Given the description of an element on the screen output the (x, y) to click on. 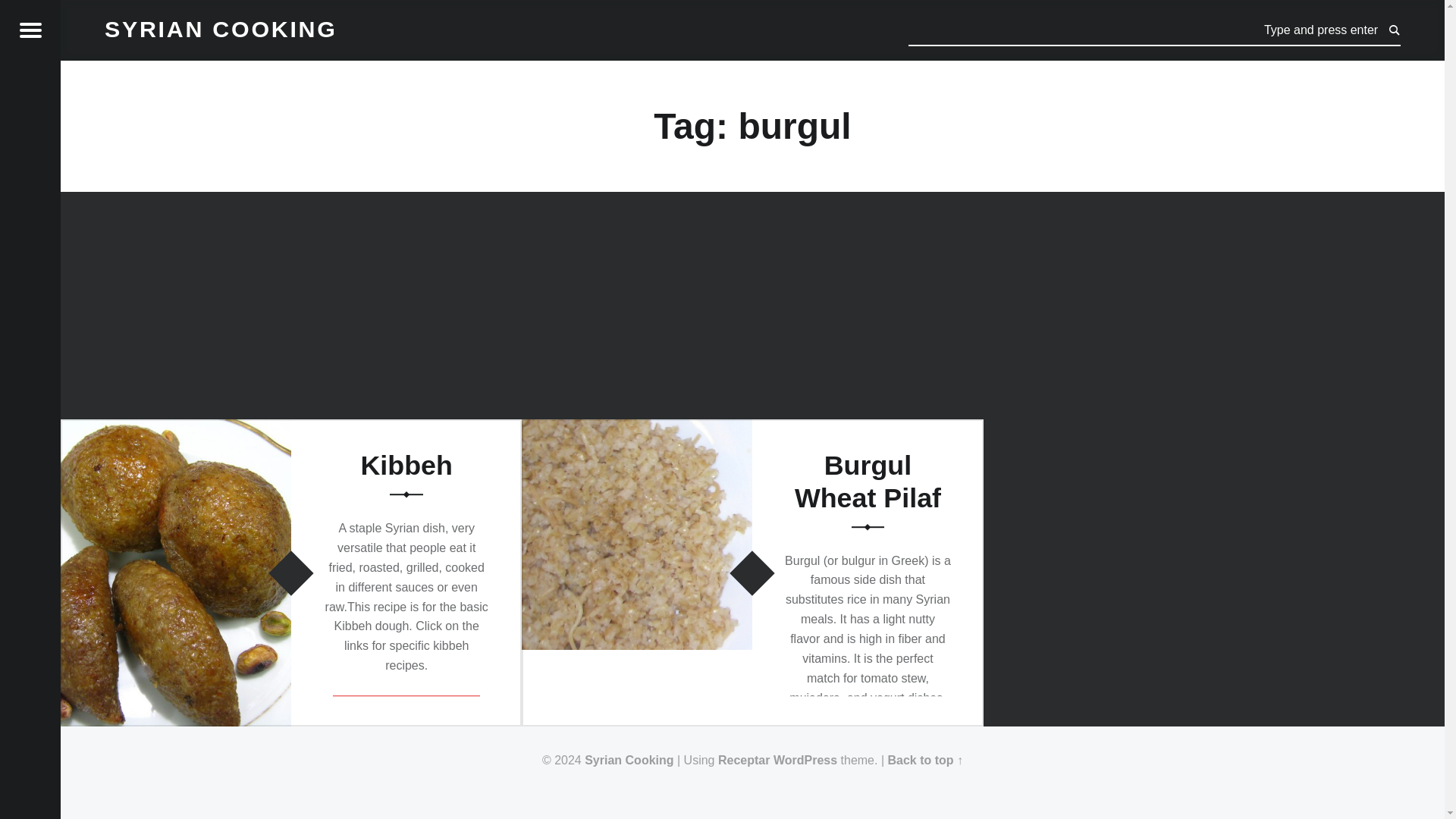
Burgul Wheat Pilaf (636, 428)
Kibbeh (176, 428)
Menu (30, 30)
Burgul Wheat Pilaf (867, 481)
SYRIAN COOKING (220, 28)
Kibbeh (405, 465)
